Given the description of an element on the screen output the (x, y) to click on. 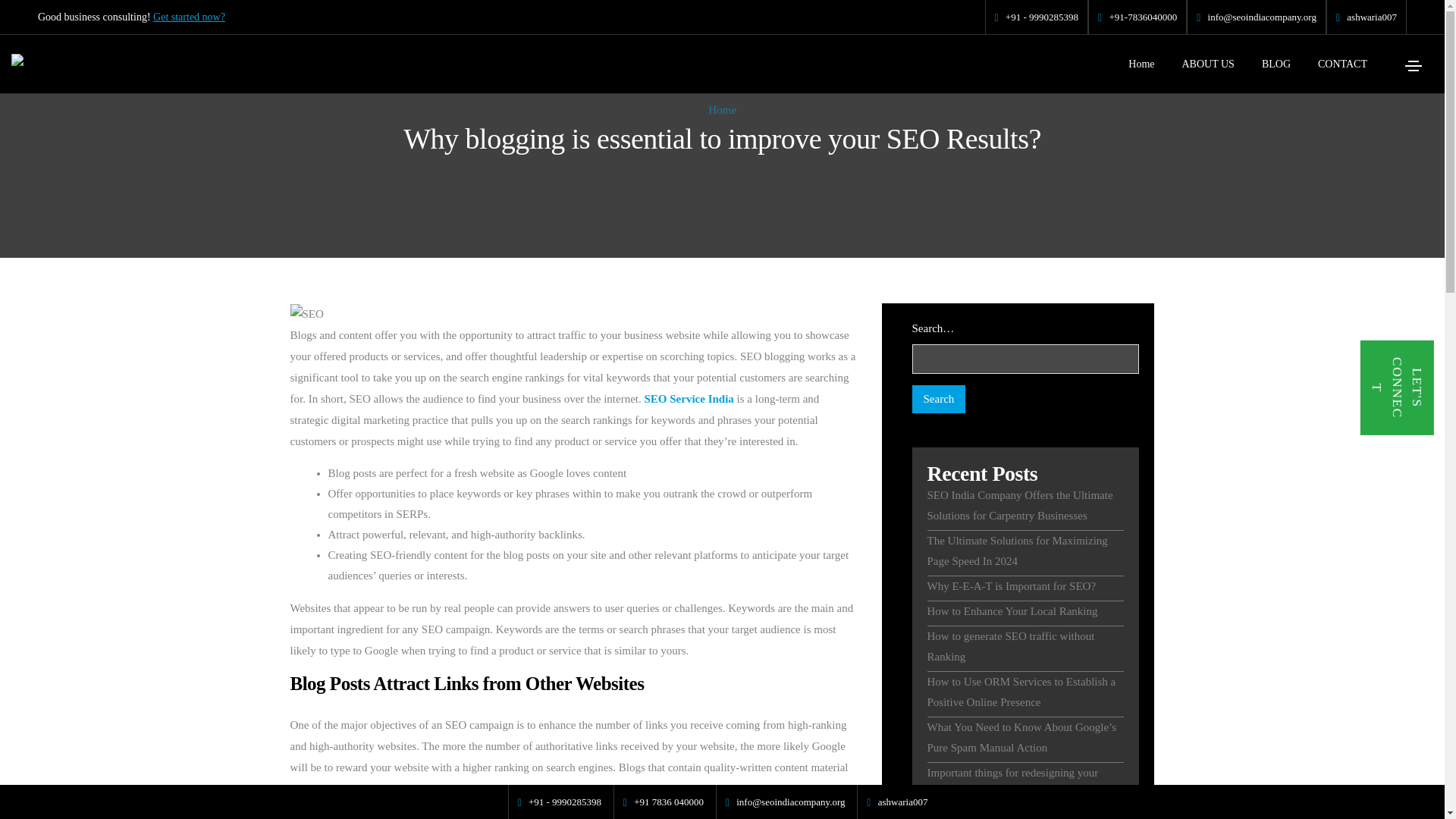
ABOUT US (1206, 64)
Search (938, 398)
Get started now? (188, 16)
Search (938, 398)
